Given the description of an element on the screen output the (x, y) to click on. 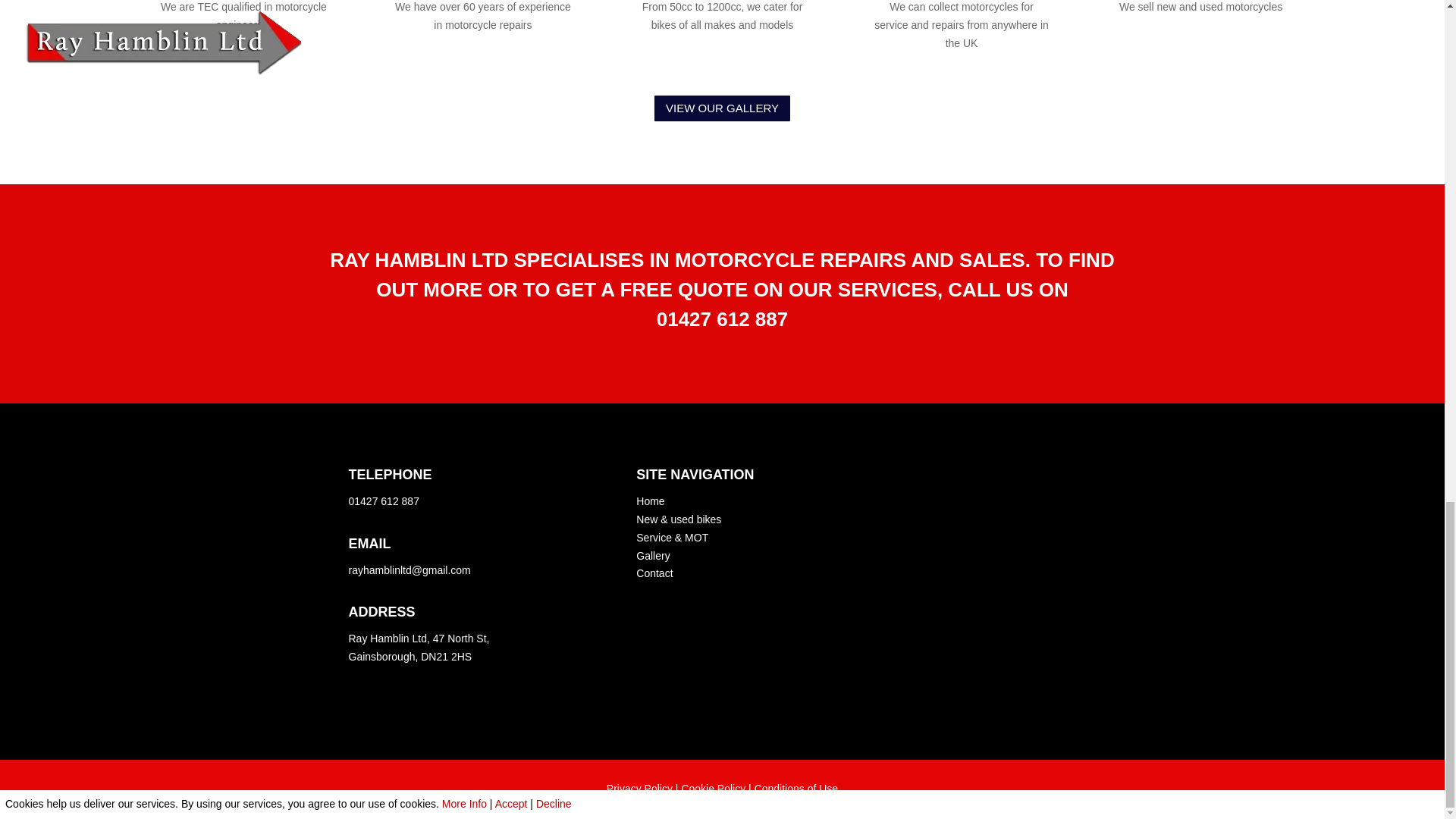
01427 612 887 (722, 318)
Cookie Policy (713, 788)
01427 612 887 (384, 500)
Home (649, 500)
VIEW OUR GALLERY (722, 108)
Contact (654, 573)
Gallery (652, 555)
Conditions of Use (796, 788)
Privacy Policy (639, 788)
